Given the description of an element on the screen output the (x, y) to click on. 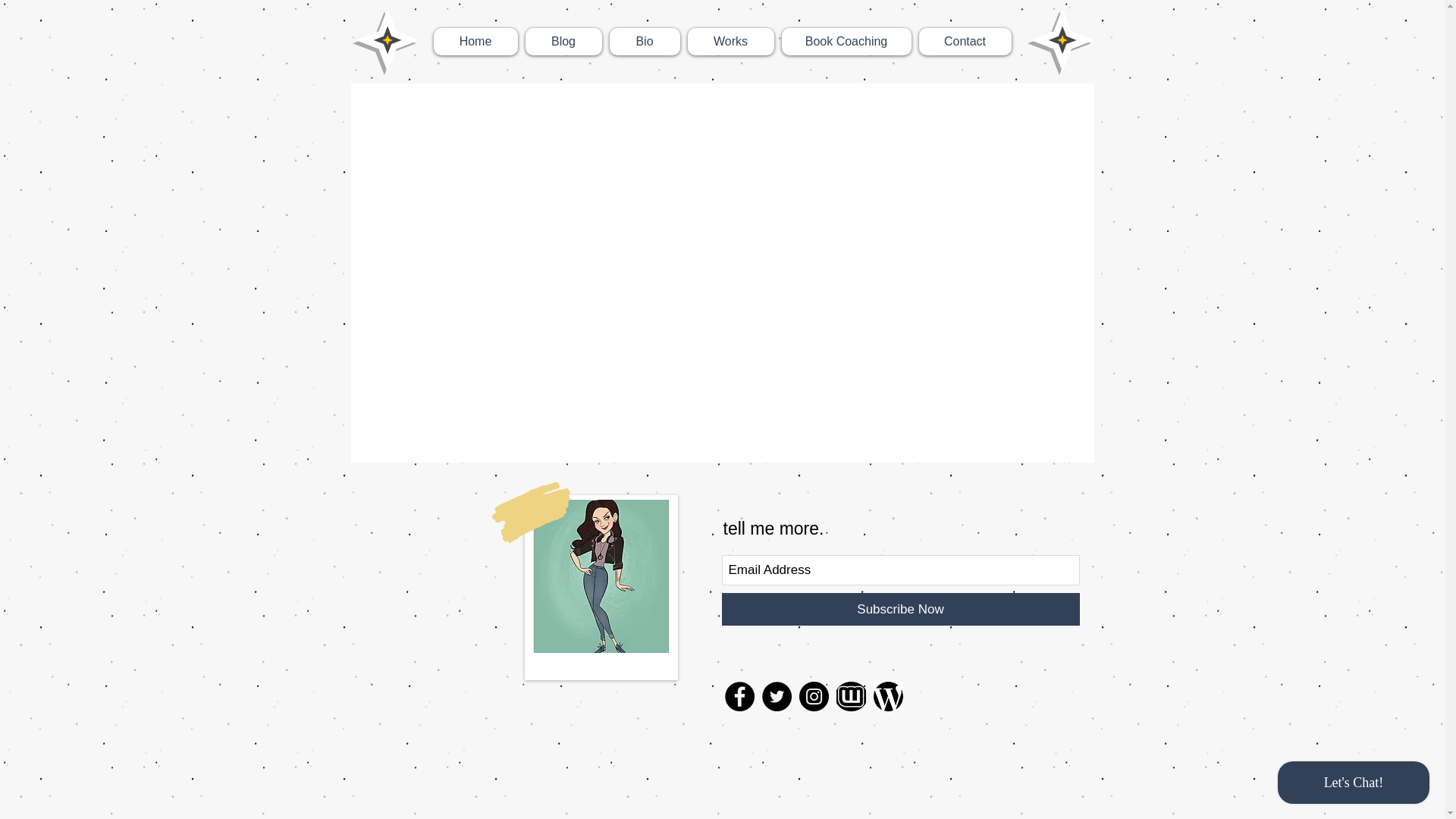
Book Coaching (845, 41)
Works (730, 41)
Contact (964, 41)
Home (475, 41)
Subscribe Now (901, 608)
Bio (644, 41)
Blog (562, 41)
